Given the description of an element on the screen output the (x, y) to click on. 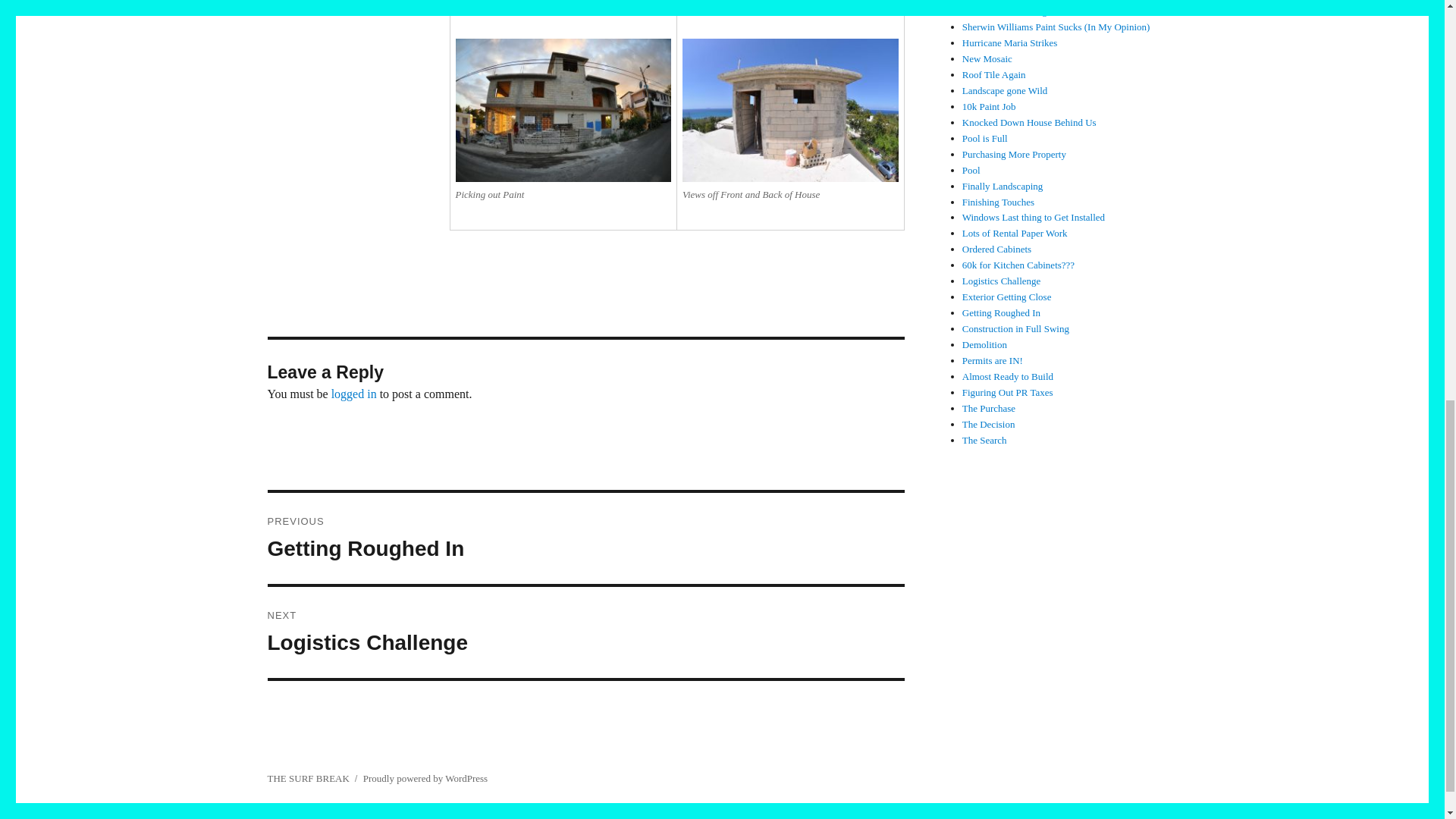
Roof Tile Again (585, 538)
New Mosaic (994, 74)
UNBELEIVABLE FOILAGE RECOVERY (986, 58)
Hurricane Maria Strikes (1010, 10)
logged in (1010, 42)
